Given the description of an element on the screen output the (x, y) to click on. 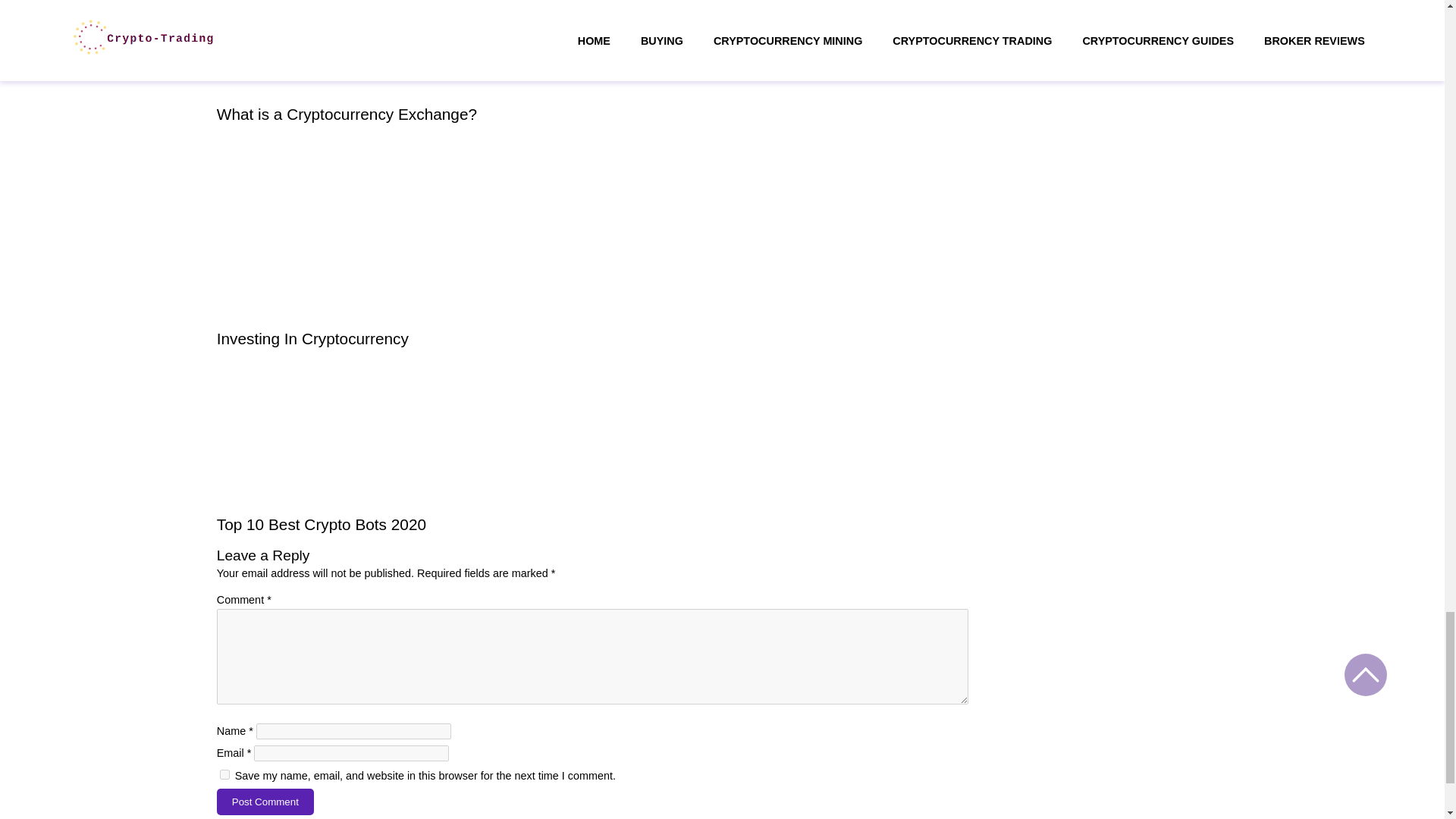
yes (224, 774)
Post Comment (265, 801)
Investing In Cryptocurrency (312, 338)
Top 10 Best Crypto Bots 2020 (321, 524)
Post Comment (265, 801)
What is a Cryptocurrency Exchange? (346, 113)
